Given the description of an element on the screen output the (x, y) to click on. 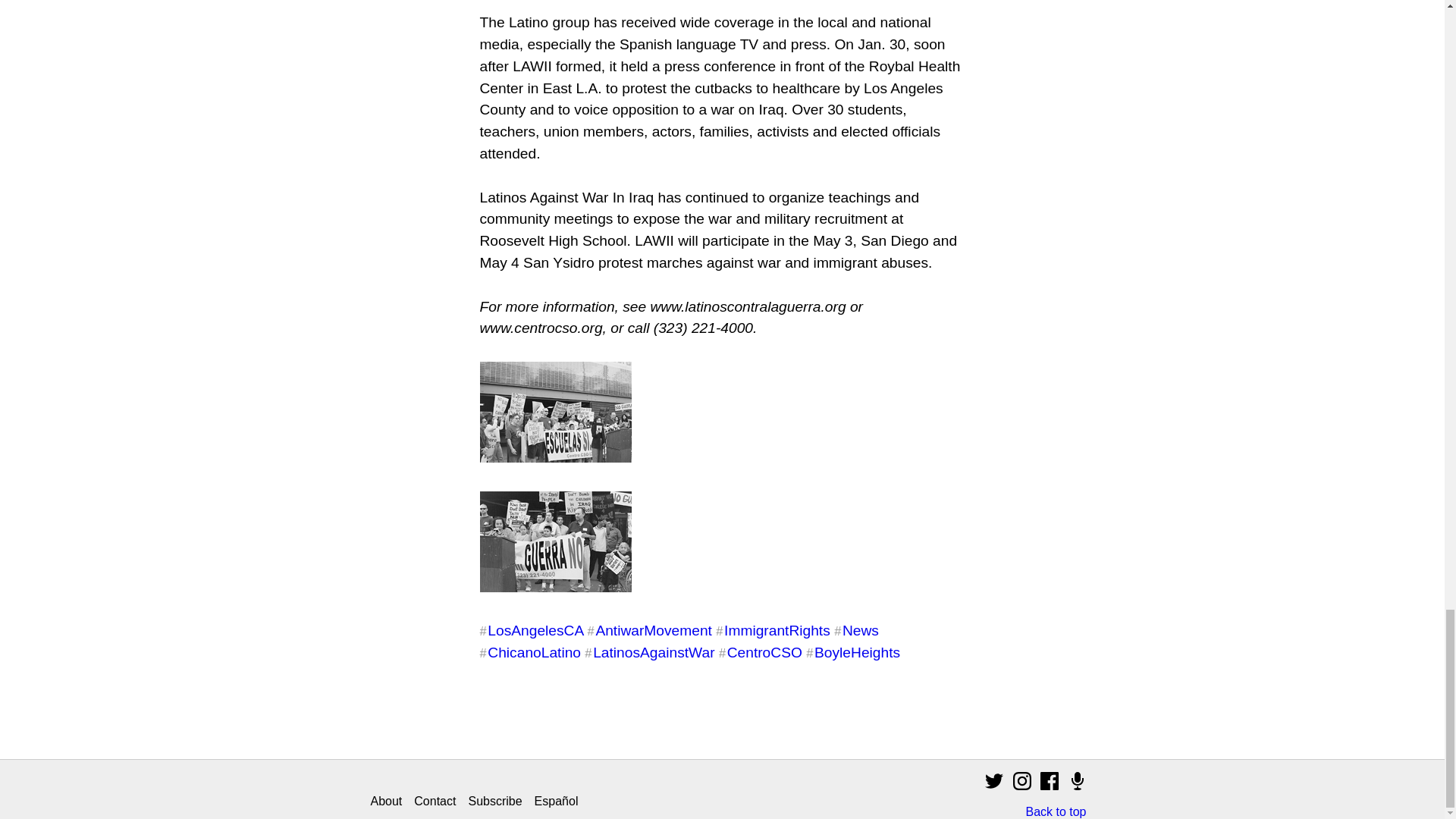
About (385, 801)
